Given the description of an element on the screen output the (x, y) to click on. 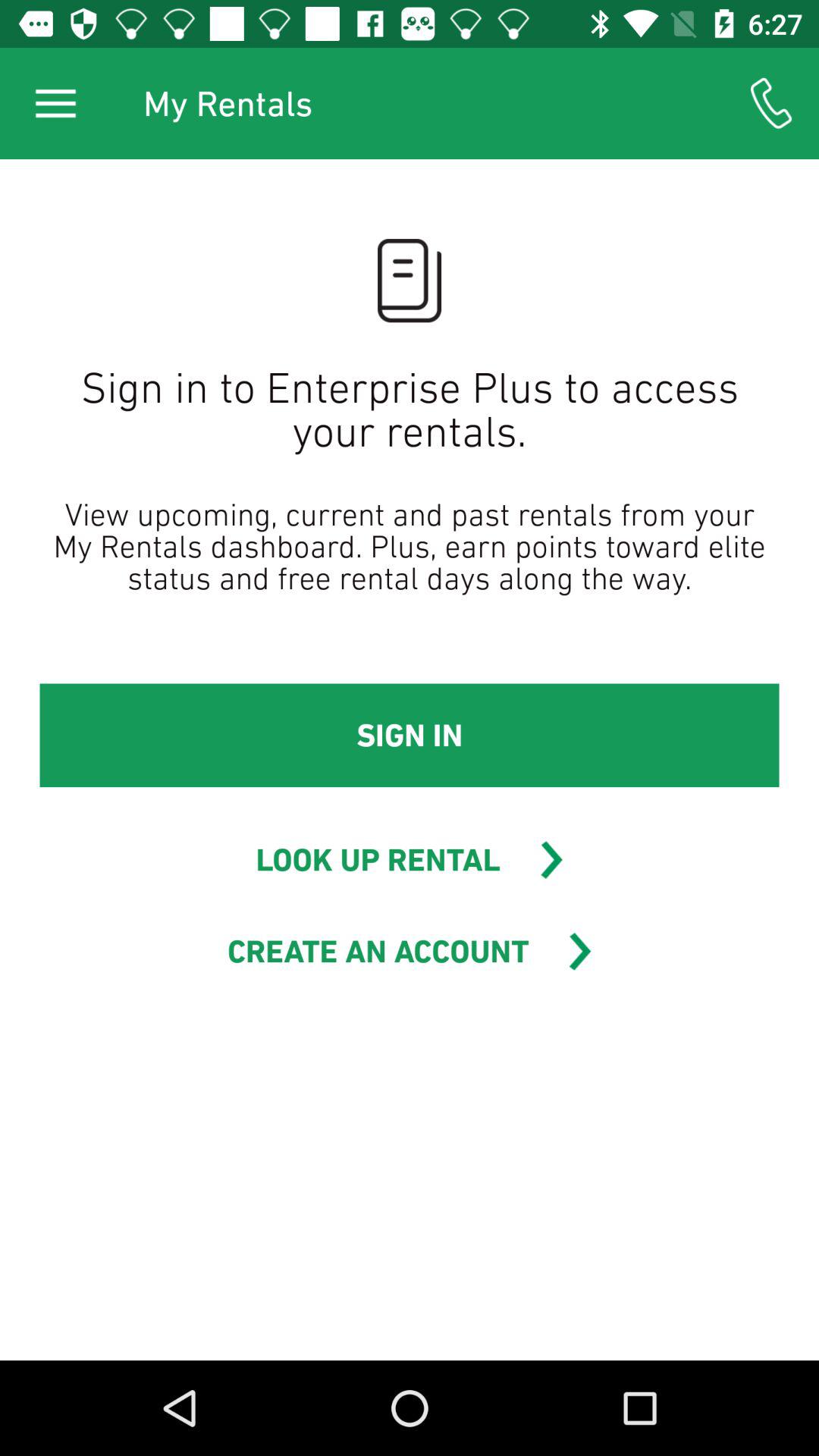
open the icon above sign in to (55, 103)
